Given the description of an element on the screen output the (x, y) to click on. 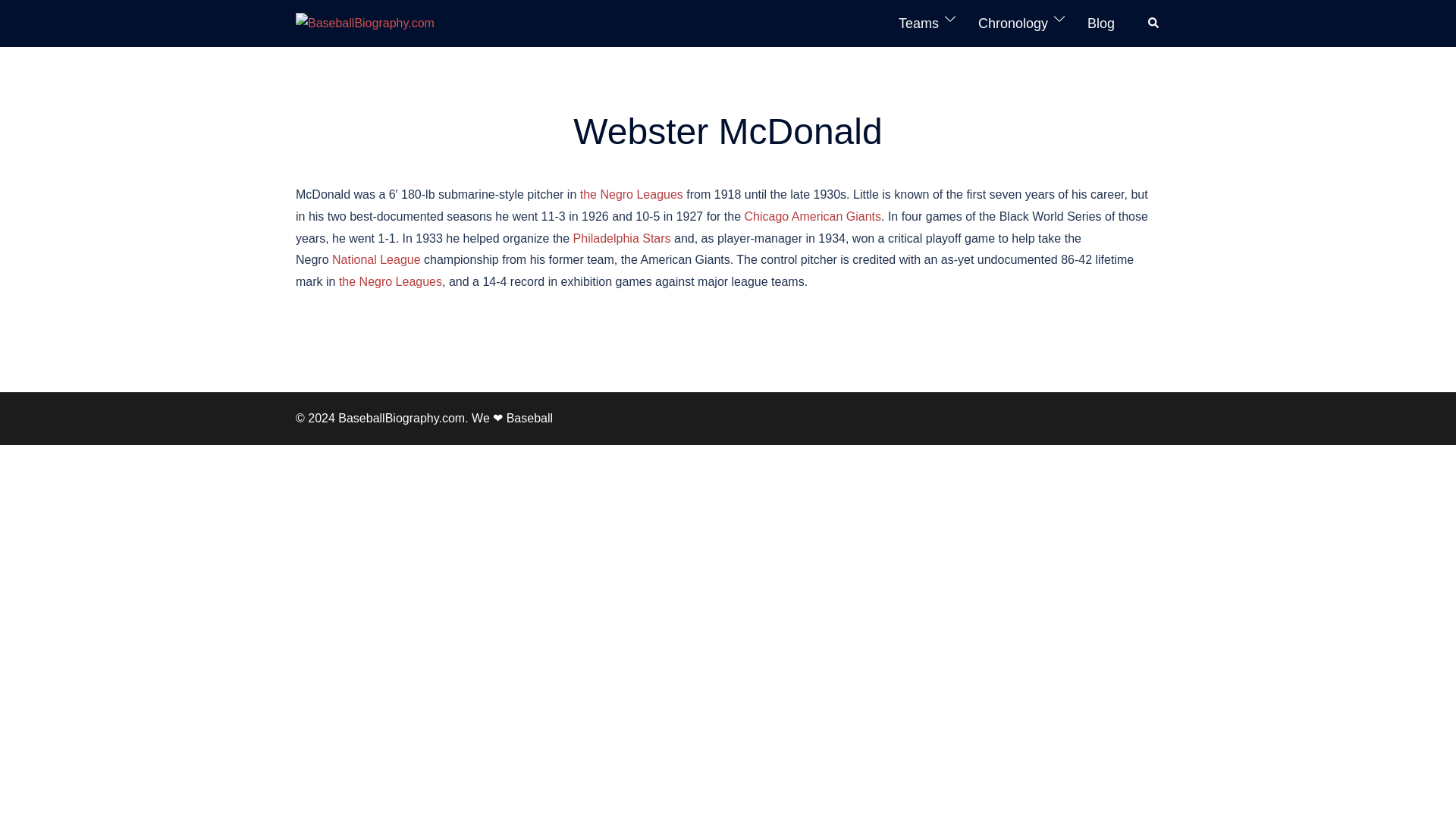
Philadelphia Stars (622, 237)
BaseballBiography.com (364, 22)
the Negro Leagues (390, 281)
National League (375, 259)
Teams (918, 23)
the Negro Leagues (630, 194)
Philadelphia Stars (622, 237)
Search (1154, 23)
National League (375, 259)
Chicago American Giants (813, 215)
